Given the description of an element on the screen output the (x, y) to click on. 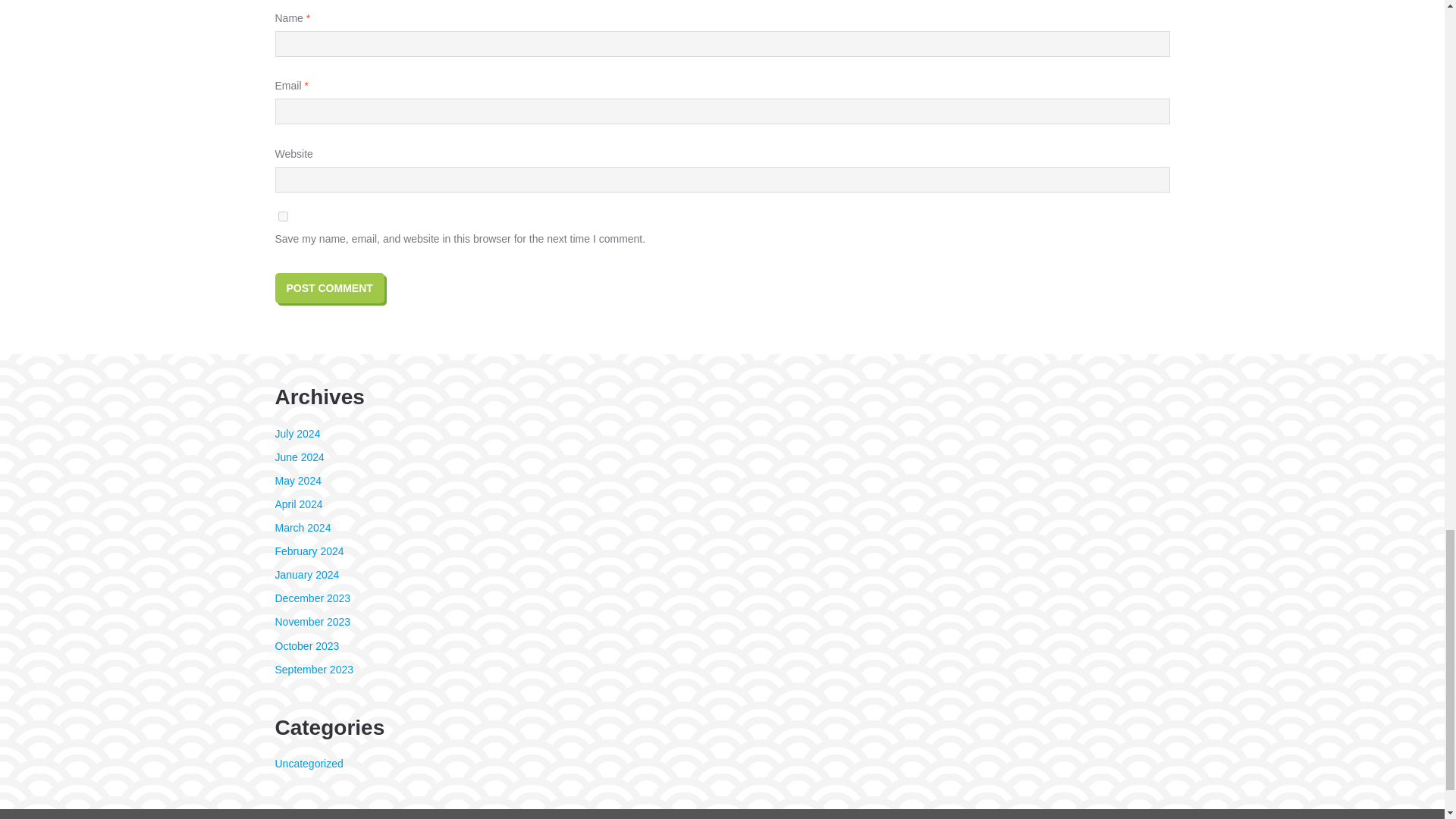
September 2023 (314, 669)
April 2024 (298, 503)
Post Comment (329, 287)
Post Comment (329, 287)
January 2024 (307, 574)
October 2023 (307, 645)
May 2024 (297, 480)
June 2024 (299, 457)
November 2023 (312, 621)
December 2023 (312, 598)
Uncategorized (308, 763)
yes (282, 216)
March 2024 (302, 527)
July 2024 (297, 433)
February 2024 (309, 551)
